Given the description of an element on the screen output the (x, y) to click on. 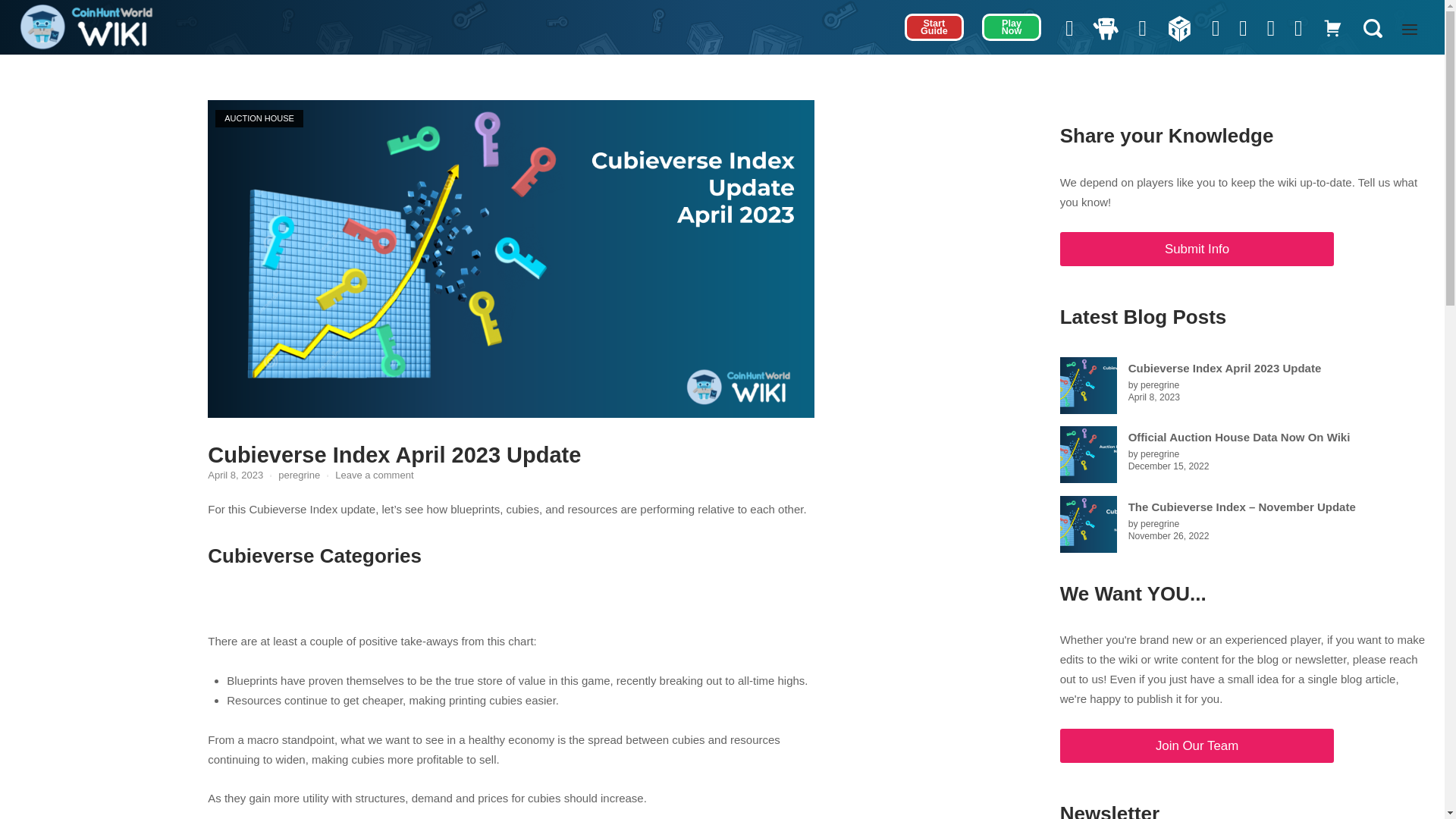
Menu (1409, 31)
Home (86, 25)
peregrine (299, 474)
Play Now (1011, 26)
Leave a comment (373, 474)
OPEN SEARCH BAR (1372, 29)
Start Guide (933, 26)
AUCTION HOUSE (259, 117)
